Given the description of an element on the screen output the (x, y) to click on. 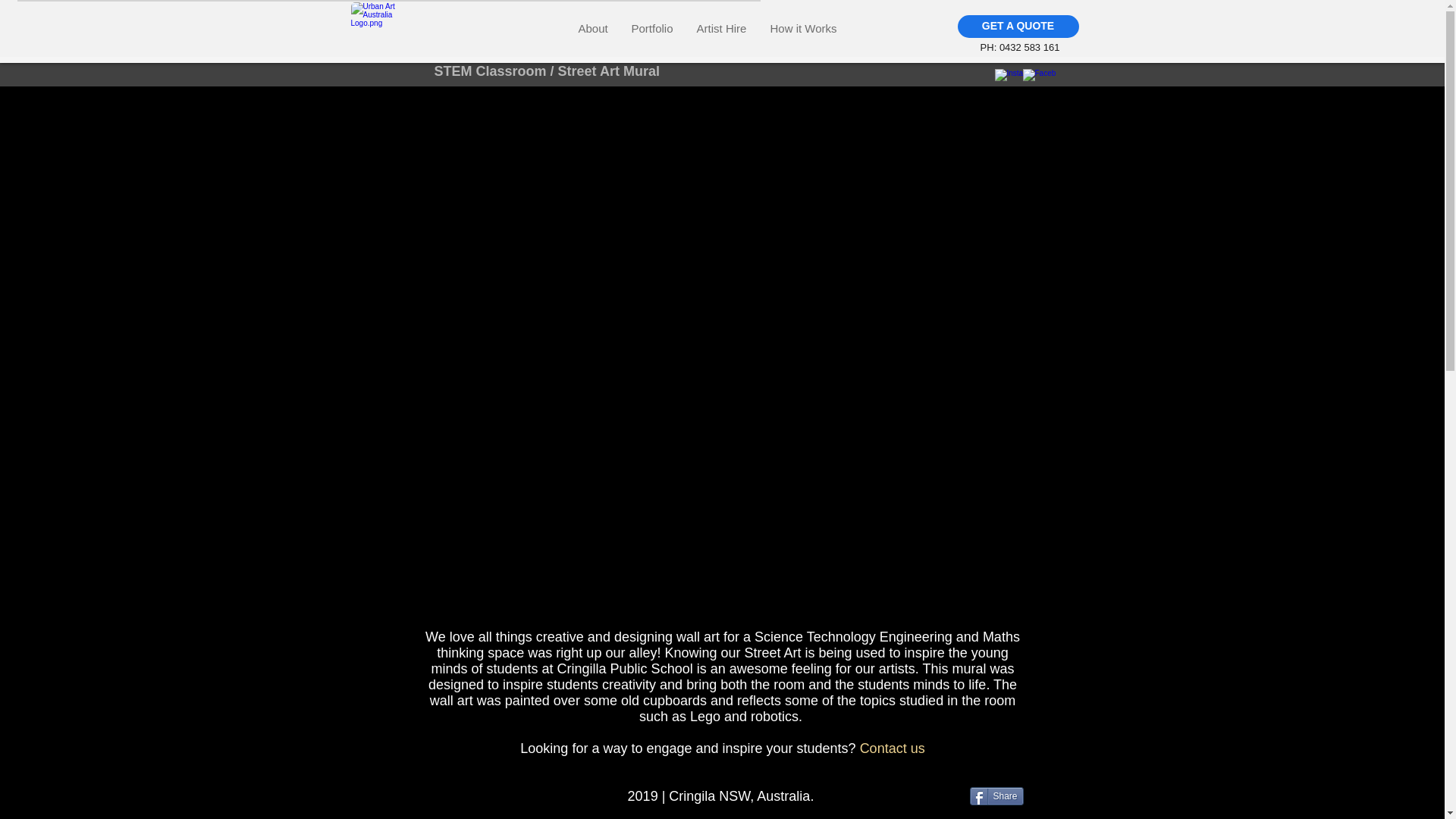
Contact us (892, 748)
Portfolio (651, 27)
GET A QUOTE (1017, 26)
Artist Hire (720, 27)
About (592, 27)
How it Works (803, 27)
Share (996, 796)
Share (996, 796)
PH: 0432 583 161 (1019, 47)
